Given the description of an element on the screen output the (x, y) to click on. 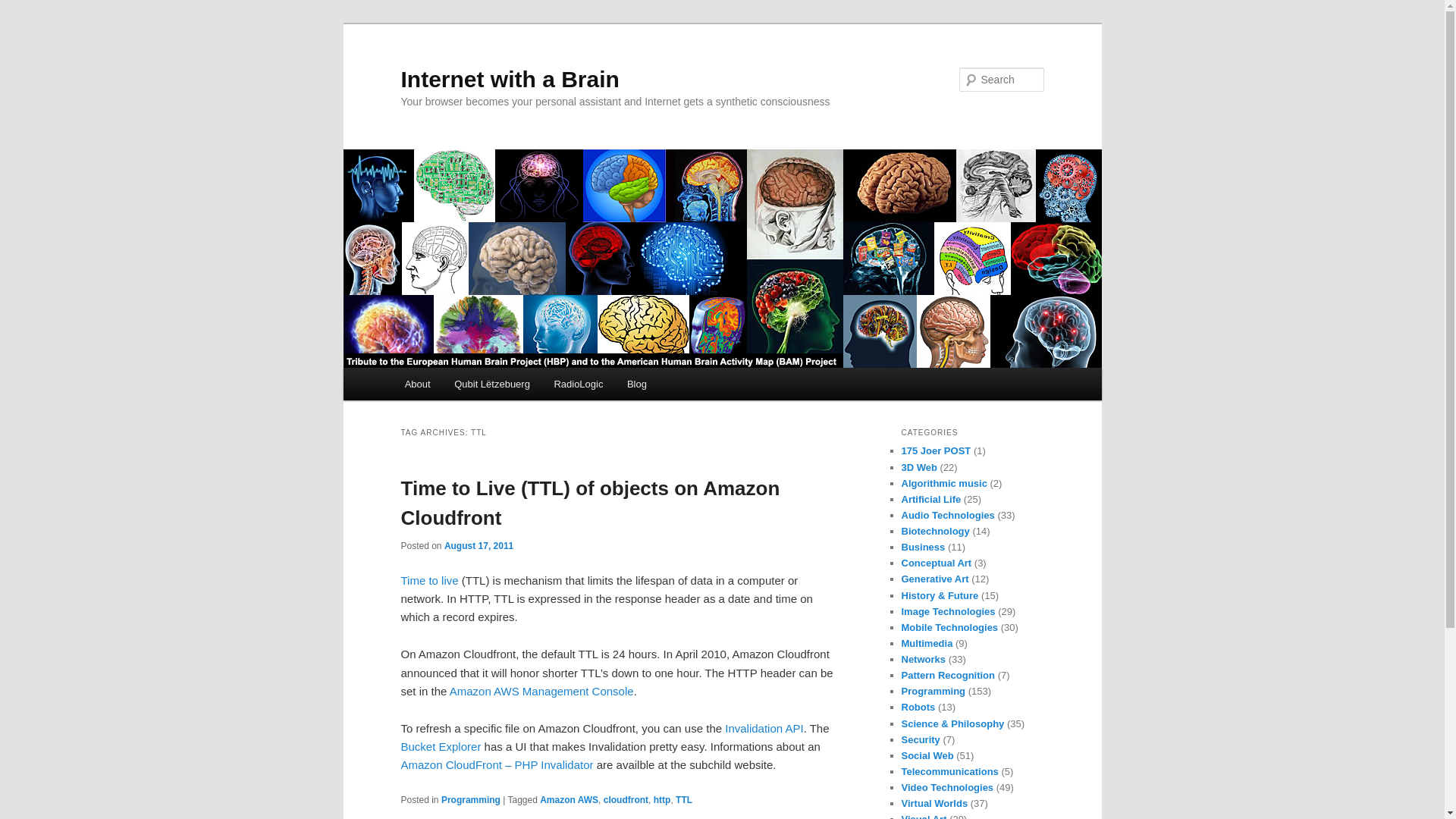
August 17, 2011 (478, 545)
Programming (470, 799)
Time to Live (430, 580)
Pattern Recognition (947, 674)
22:42 (478, 545)
Multimedia (926, 643)
Audio Technologies (947, 514)
Robots (917, 706)
Programming (933, 690)
